Given the description of an element on the screen output the (x, y) to click on. 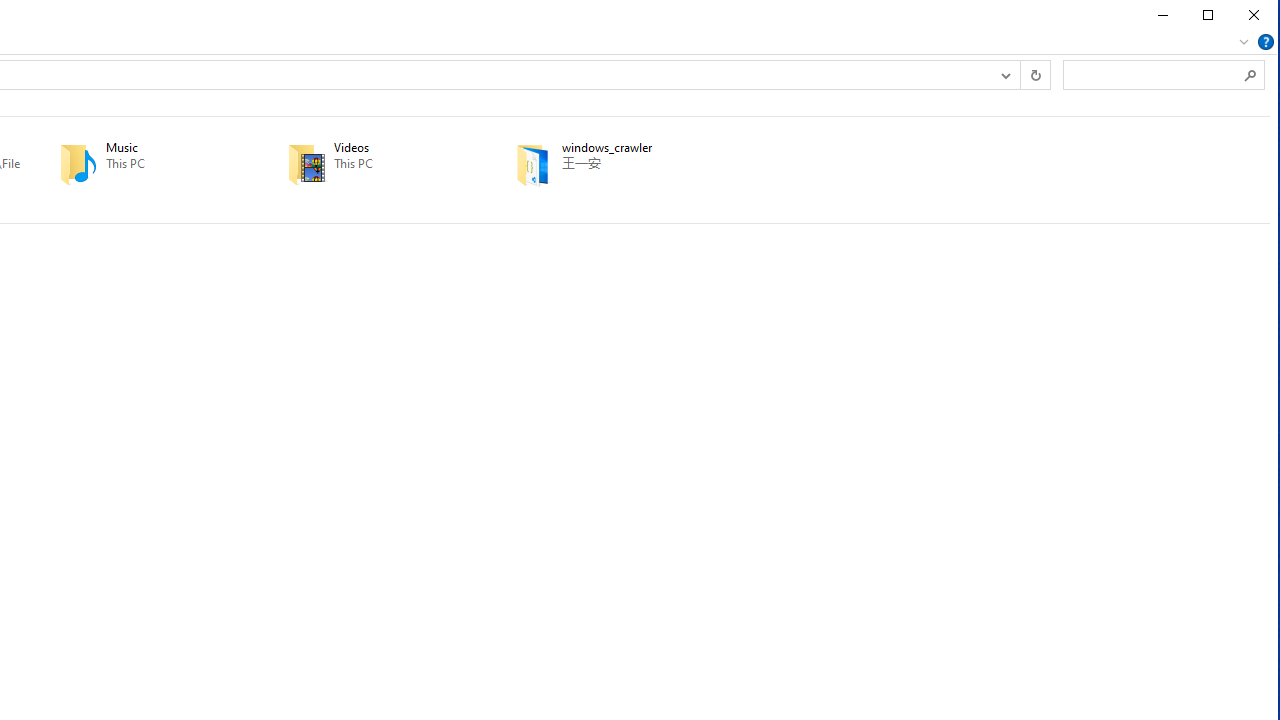
Maximize (1208, 15)
Search Box (1153, 74)
